Given the description of an element on the screen output the (x, y) to click on. 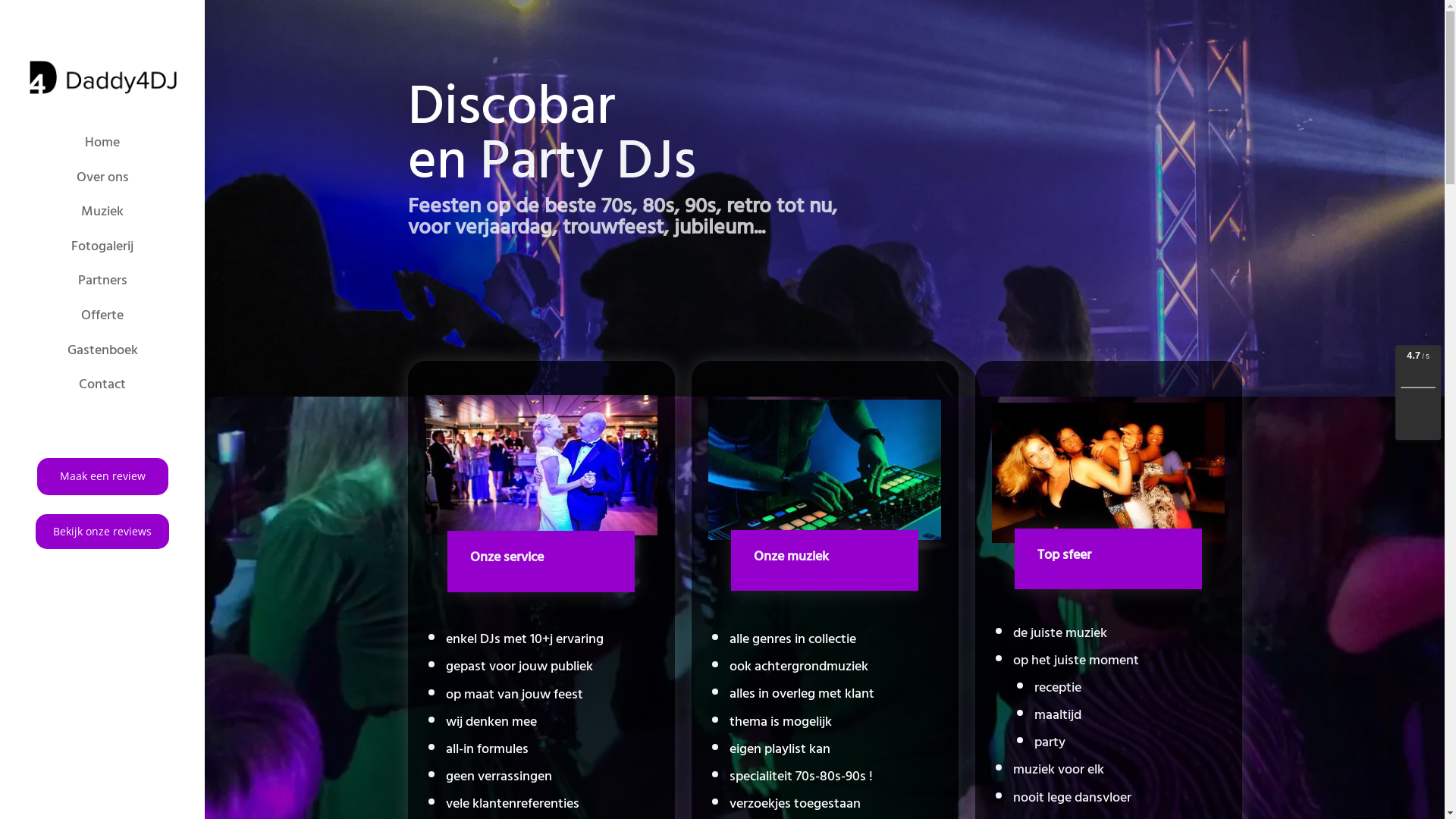
Contact Element type: text (102, 384)
Gastenboek Element type: text (102, 349)
Maak een review Element type: text (101, 476)
Over ons Element type: text (102, 177)
Muziek Element type: text (102, 211)
Home Element type: text (102, 142)
Offerte Element type: text (102, 315)
Bekijk onze reviews Element type: text (102, 531)
Fotogalerij Element type: text (102, 246)
Partners Element type: text (102, 280)
